Given the description of an element on the screen output the (x, y) to click on. 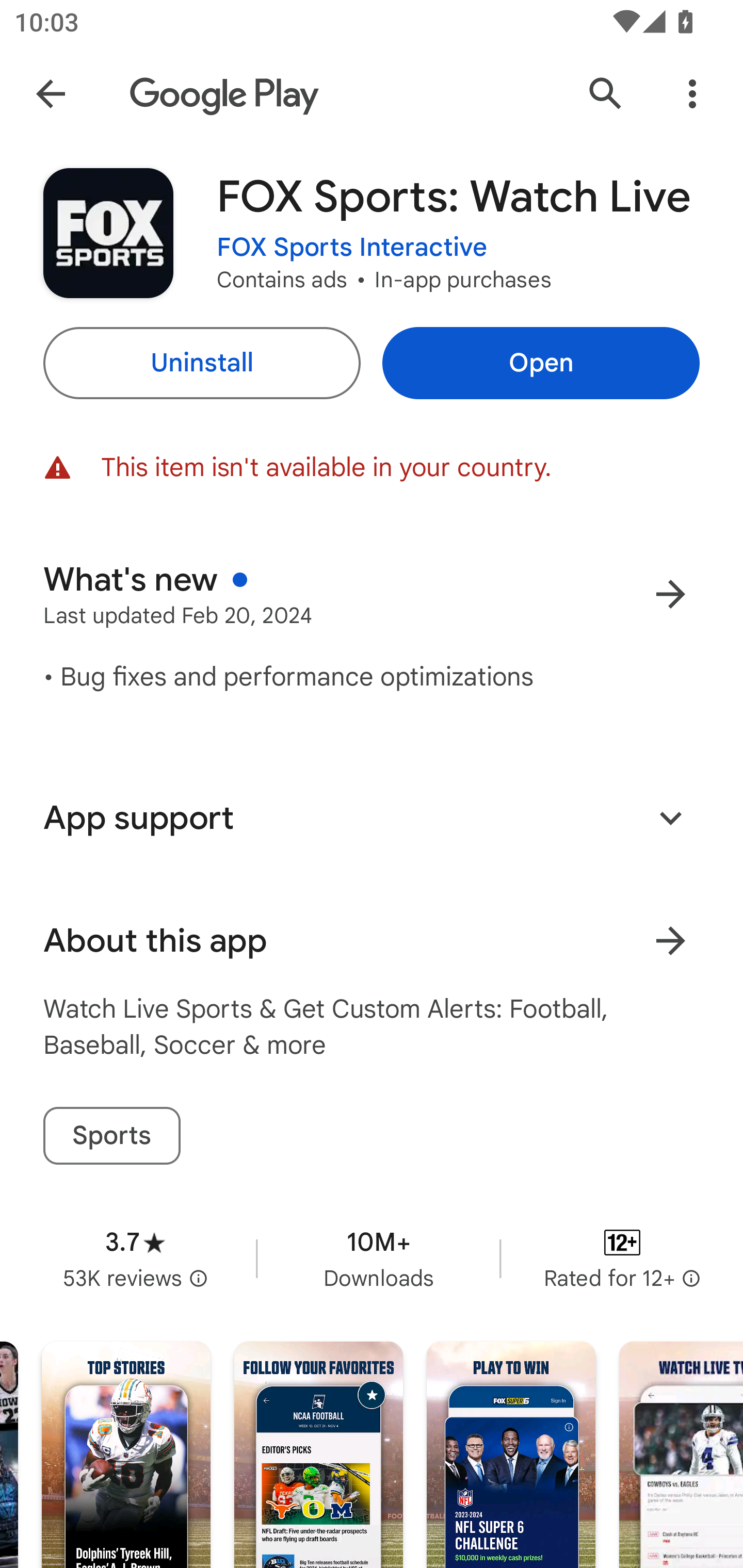
Navigate up (50, 93)
Search Google Play (605, 93)
More Options (692, 93)
FOX Sports Interactive (351, 247)
Uninstall (201, 362)
Open (540, 362)
More results for What's new (670, 594)
App support Expand (371, 817)
Expand (670, 817)
About this app Learn more About this app (371, 940)
Learn more About this app (670, 940)
Sports tag (111, 1135)
Average rating 3.7 stars in 53 thousand reviews (135, 1258)
Content rating Rated for 12+ (622, 1258)
Screenshot "1" of "5" (125, 1455)
Screenshot "2" of "5" (318, 1455)
Screenshot "3" of "5" (510, 1455)
Screenshot "4" of "5" (680, 1455)
